Given the description of an element on the screen output the (x, y) to click on. 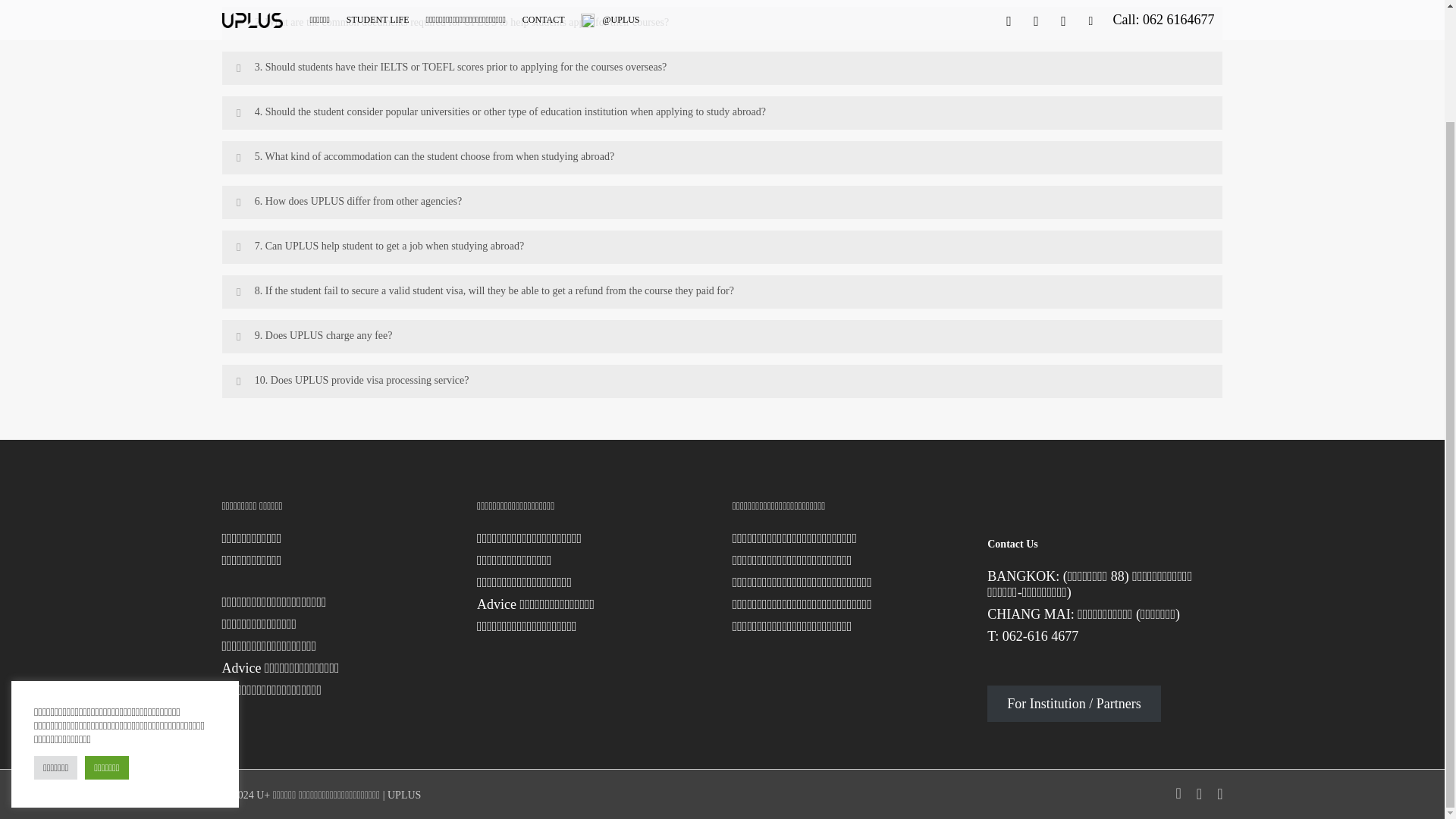
6. How does UPLUS differ from other agencies? (722, 202)
